Given the description of an element on the screen output the (x, y) to click on. 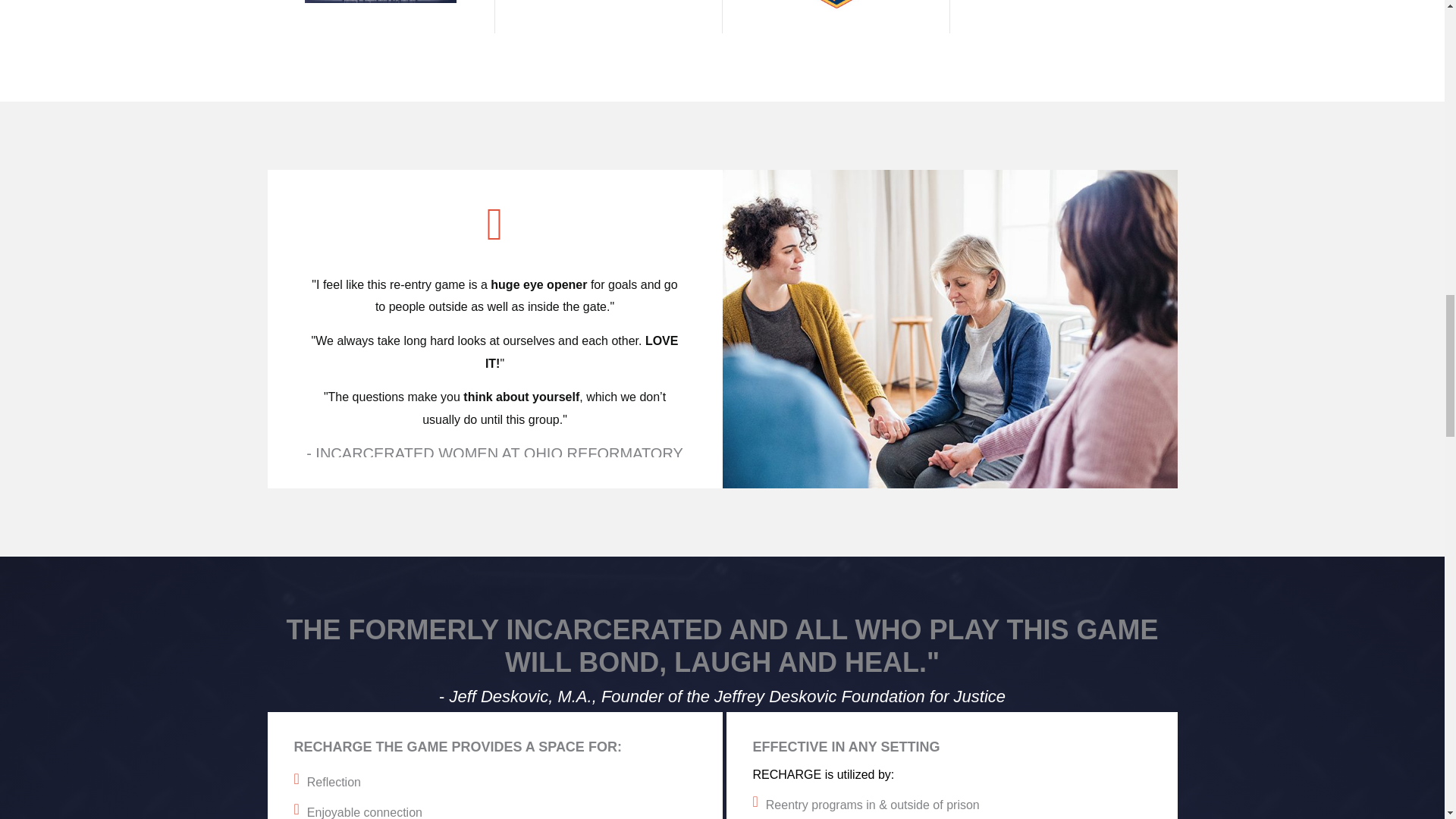
nj-doc (835, 5)
reikers (380, 1)
